Given the description of an element on the screen output the (x, y) to click on. 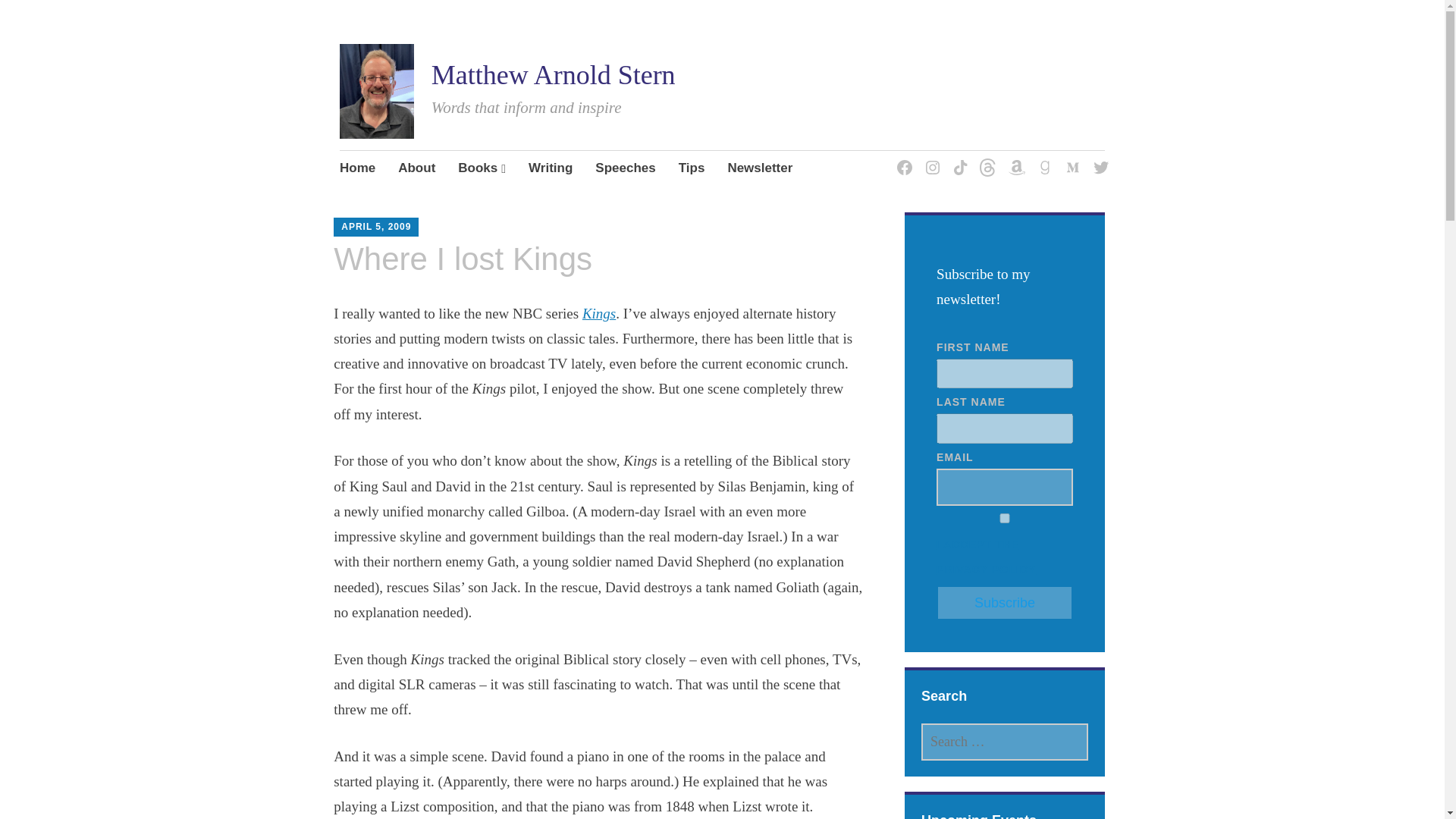
Subscribe (1004, 602)
MATTHEW ARNOLD STERN (454, 232)
Matthew Arnold Stern (552, 74)
About (416, 169)
Speeches (625, 169)
APRIL 5, 2009 (375, 226)
Newsletter (759, 169)
Books (481, 169)
on (1004, 518)
Home (357, 169)
